Given the description of an element on the screen output the (x, y) to click on. 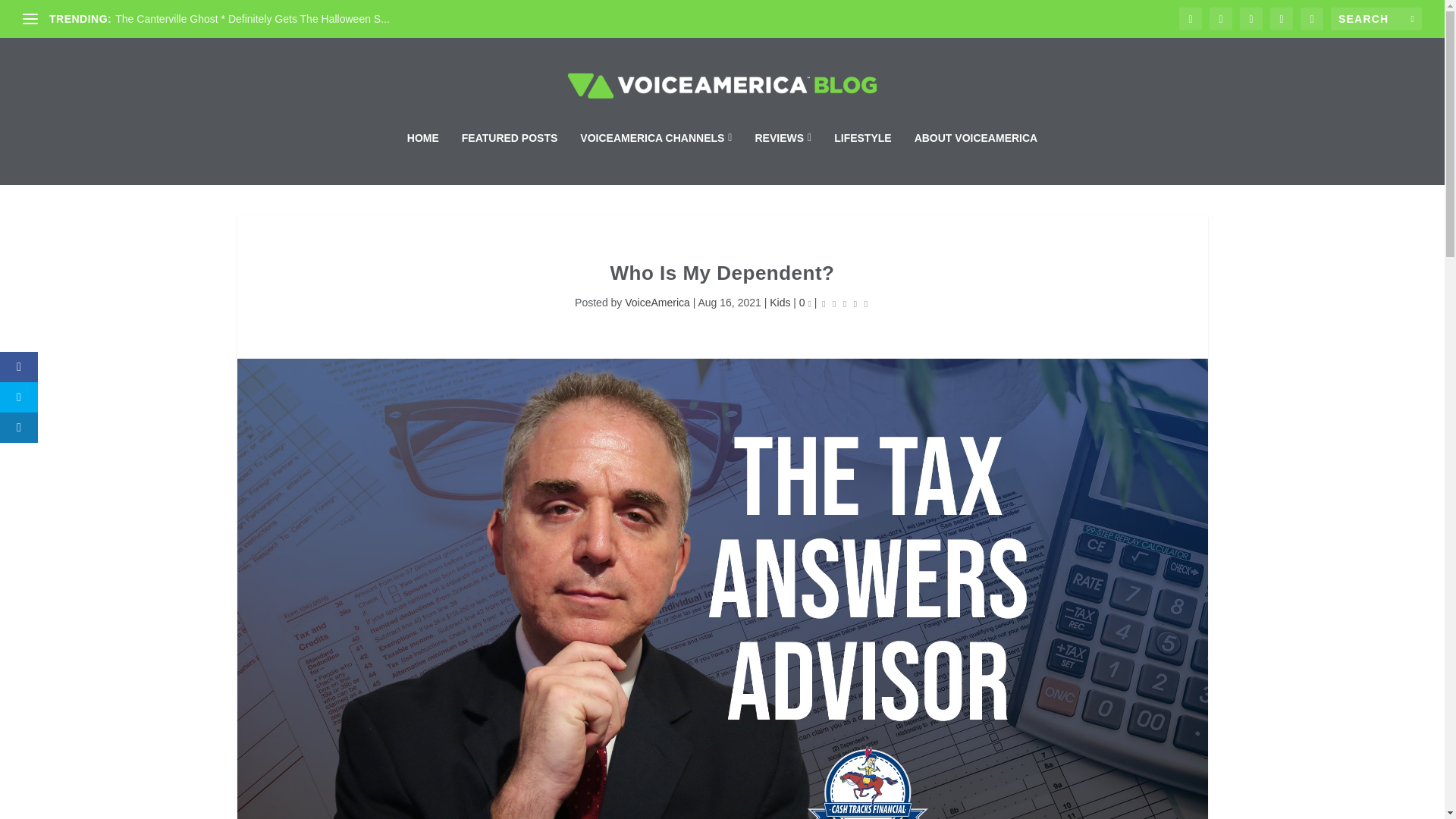
Search for: (1376, 18)
comment count (809, 303)
Rating: 0.00 (844, 303)
Posts by VoiceAmerica (657, 302)
